Given the description of an element on the screen output the (x, y) to click on. 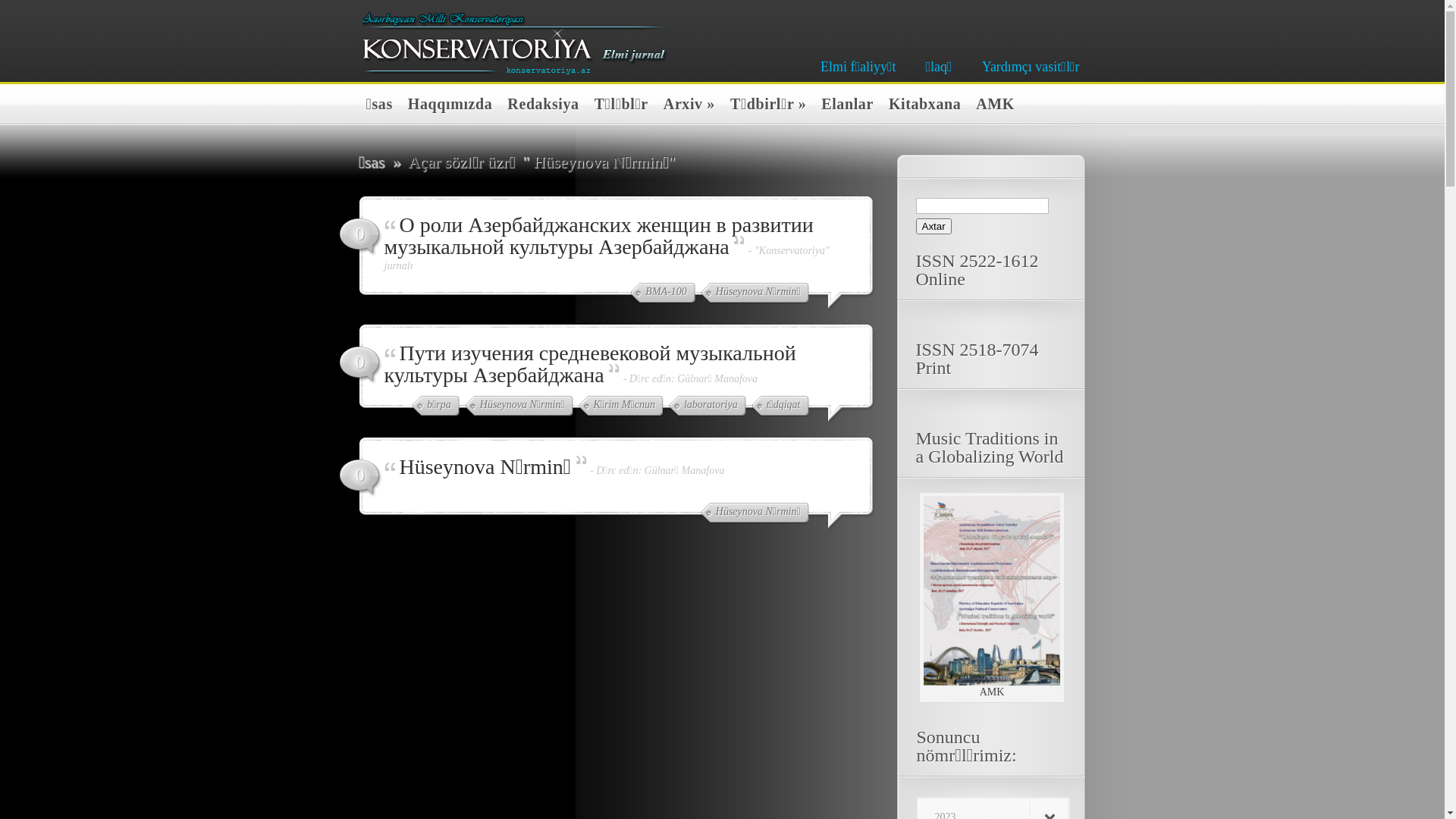
AMK Element type: text (991, 106)
0 Element type: text (359, 365)
BMA-100 Element type: text (662, 293)
Kitabxana Element type: text (920, 106)
0 Element type: text (359, 237)
laboratoriya Element type: text (707, 406)
0 Element type: text (359, 478)
Redaksiya Element type: text (538, 106)
Elanlar Element type: text (843, 106)
Axtar Element type: text (933, 226)
